Given the description of an element on the screen output the (x, y) to click on. 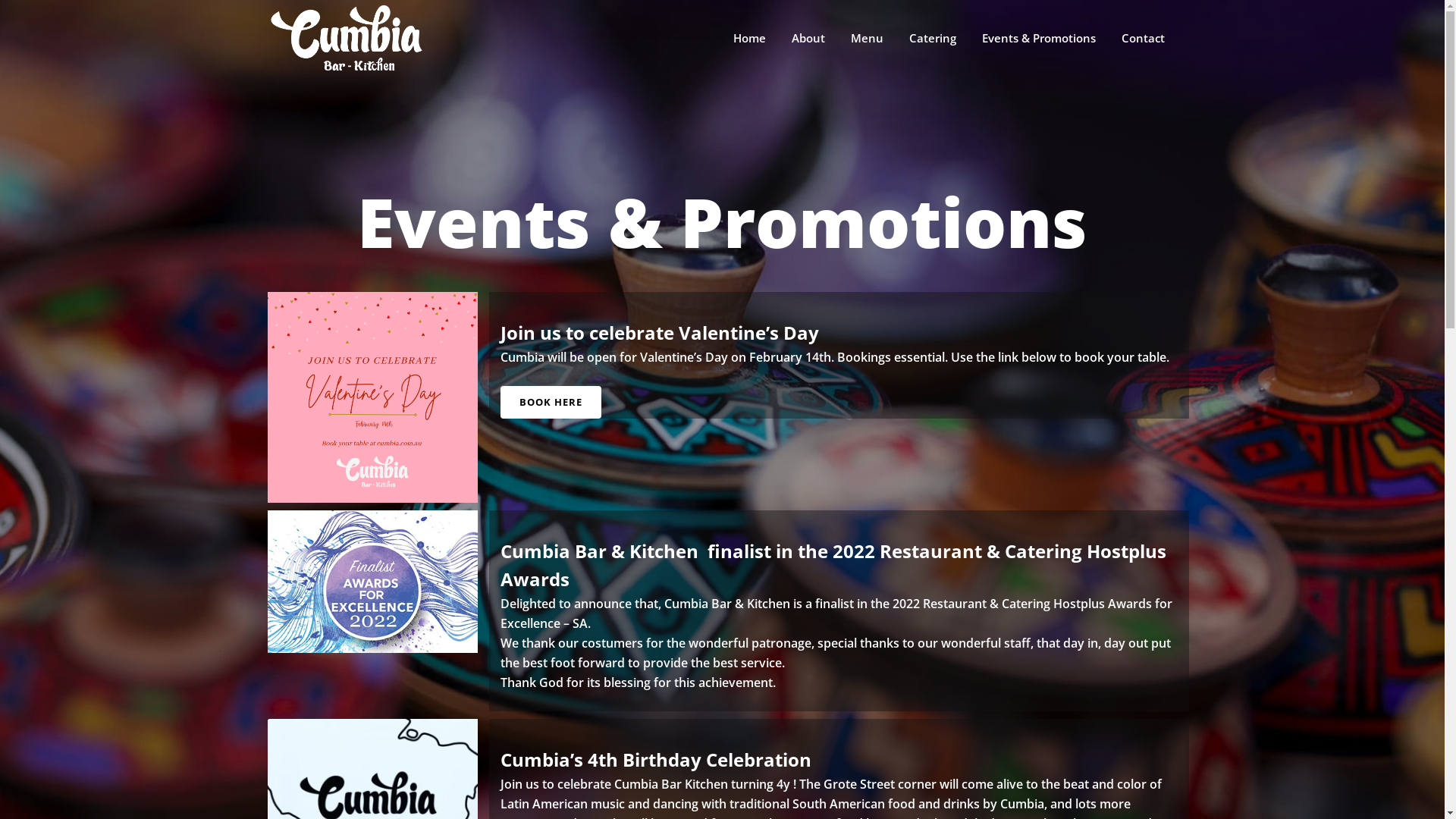
BOOK HERE Element type: text (550, 401)
Home Element type: text (749, 37)
Events & Promotions Element type: text (1038, 37)
Menu Element type: text (866, 37)
About Element type: text (807, 37)
Contact Element type: text (1142, 37)
Catering Element type: text (932, 37)
